Given the description of an element on the screen output the (x, y) to click on. 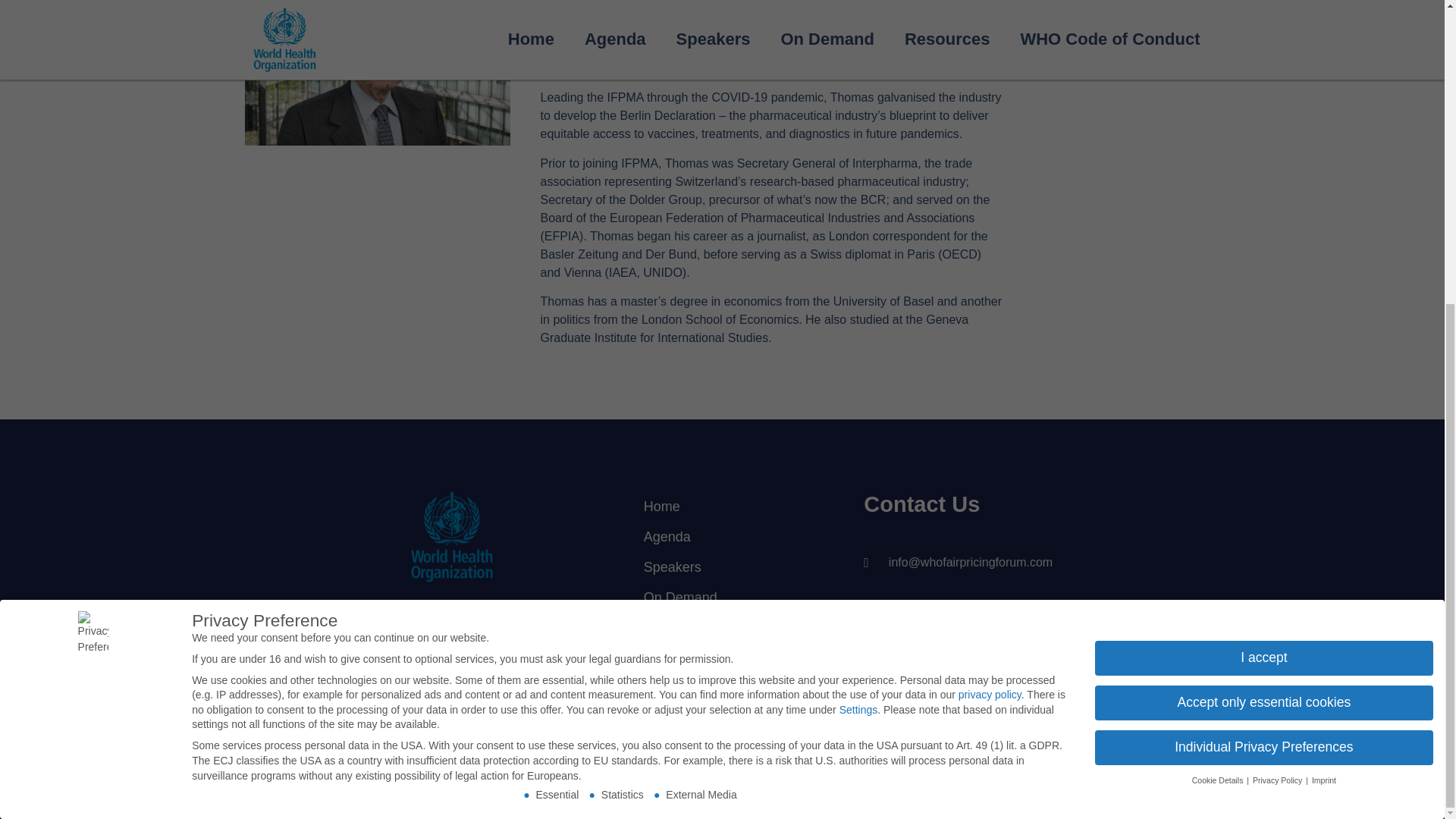
Agenda (713, 536)
WHO Code of Conduct (713, 666)
Resources (713, 627)
Speakers (713, 567)
On Demand (713, 597)
Open Cookie Preferences (32, 323)
Home (713, 506)
